Given the description of an element on the screen output the (x, y) to click on. 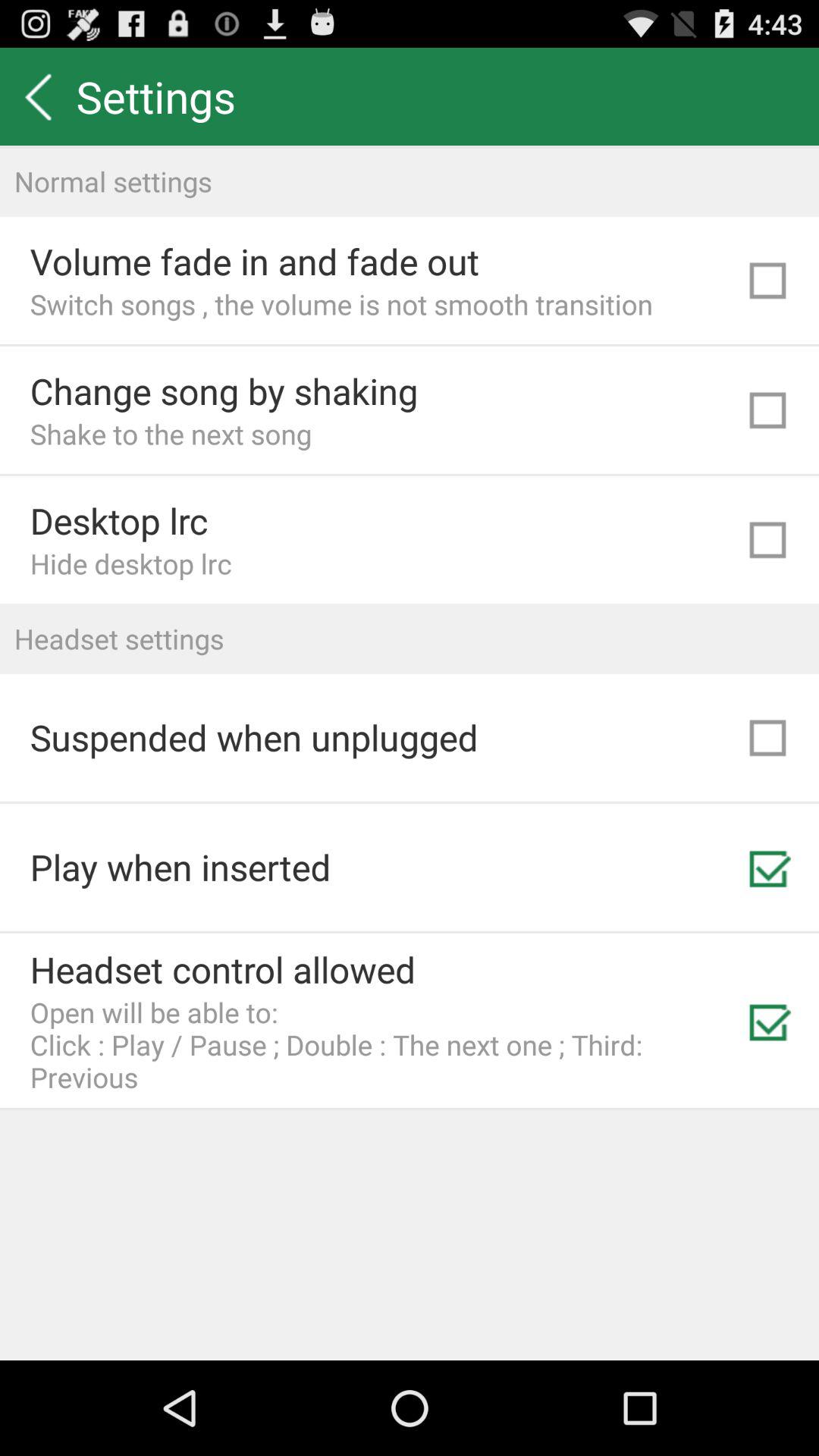
turn off the app above switch songs the icon (254, 261)
